Given the description of an element on the screen output the (x, y) to click on. 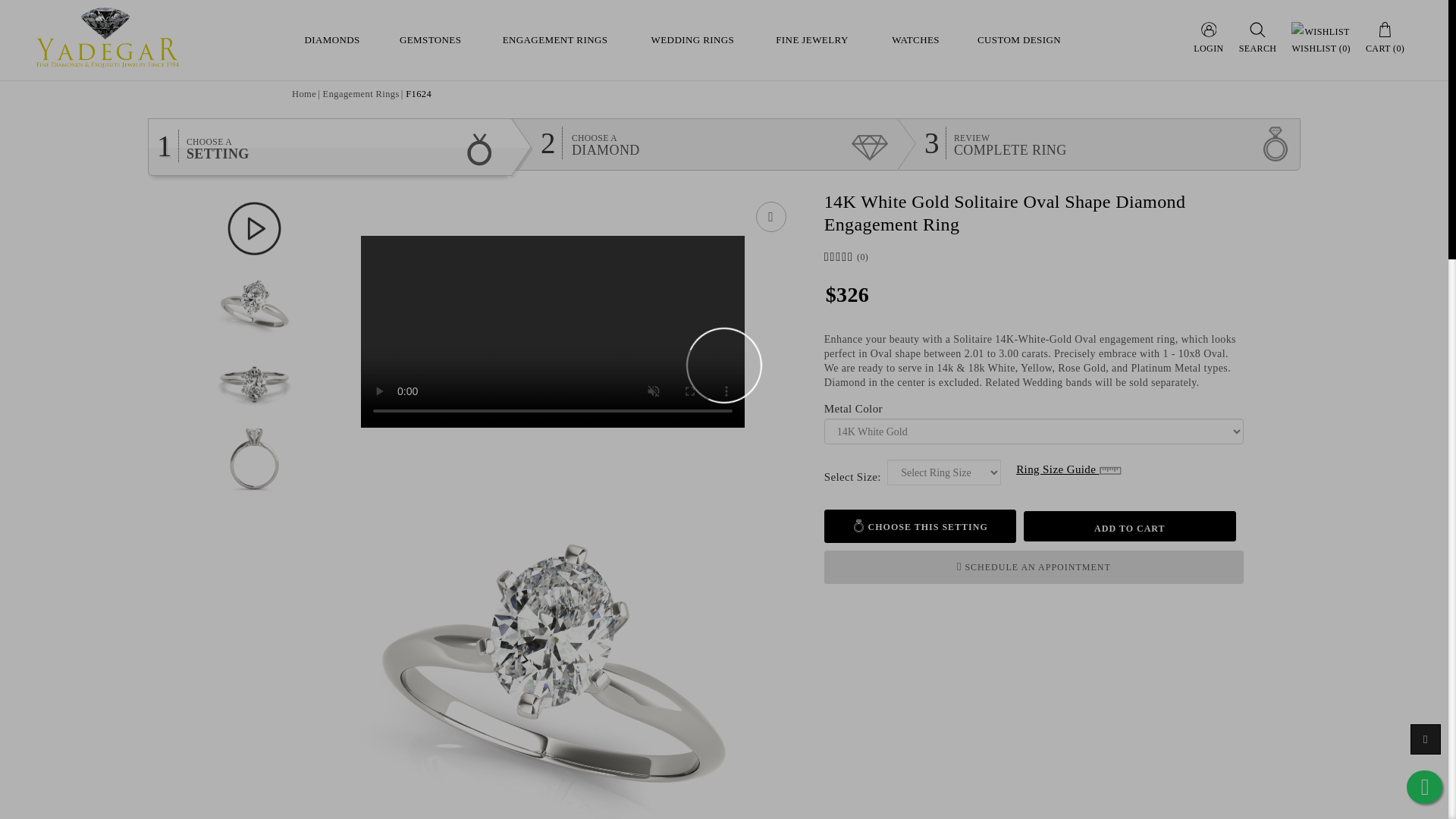
DIAMONDS (332, 40)
GEMSTONES (431, 40)
Wishlist (770, 216)
